Given the description of an element on the screen output the (x, y) to click on. 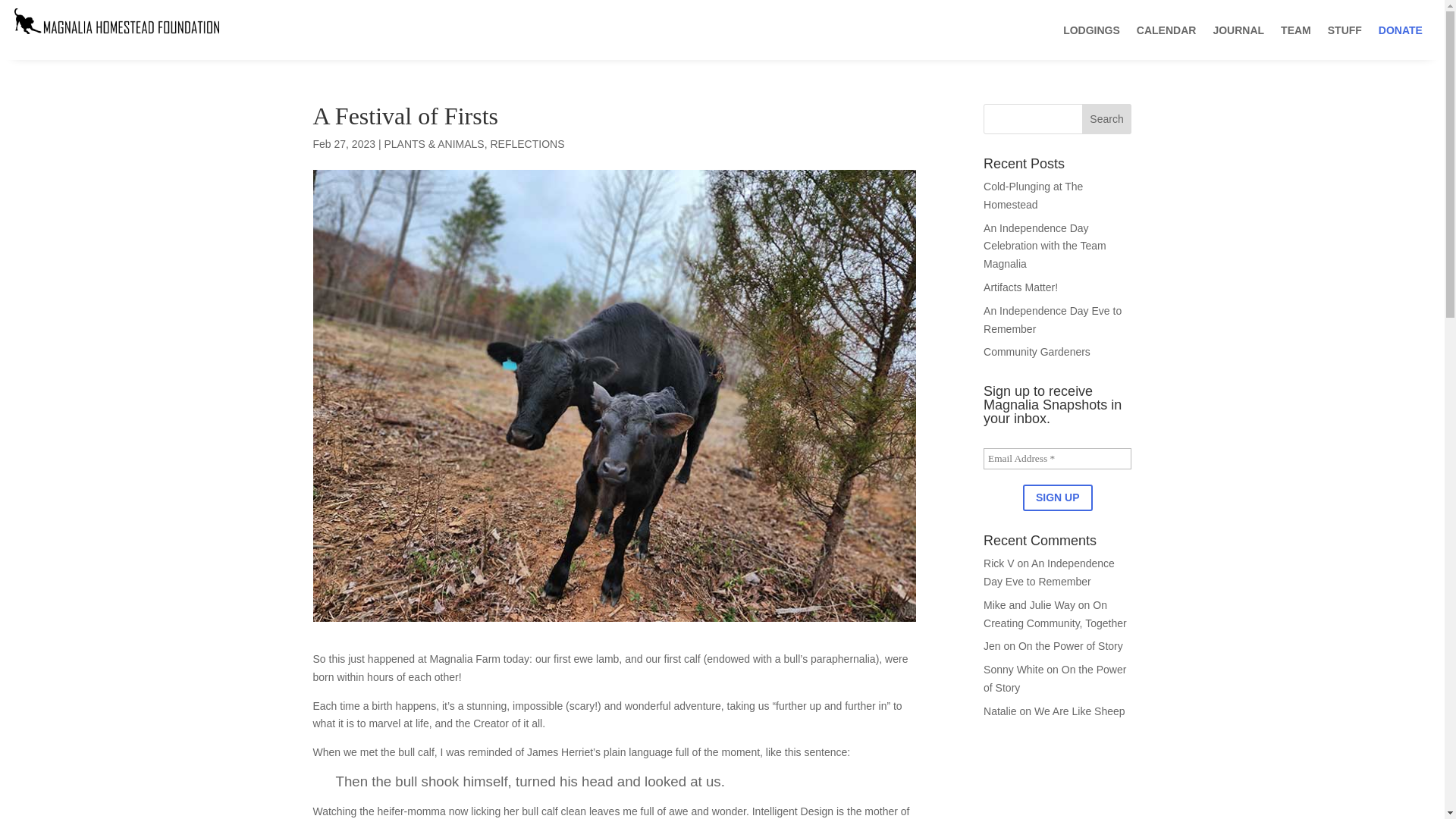
STUFF (1344, 28)
DONATE (1400, 28)
SIGN UP (1058, 497)
An Independence Day Eve to Remember (1049, 572)
Email Address (1057, 458)
Community Gardeners (1037, 351)
SIGN UP (1058, 497)
REFLECTIONS (526, 143)
LODGINGS (1090, 28)
Search (1106, 119)
